Given the description of an element on the screen output the (x, y) to click on. 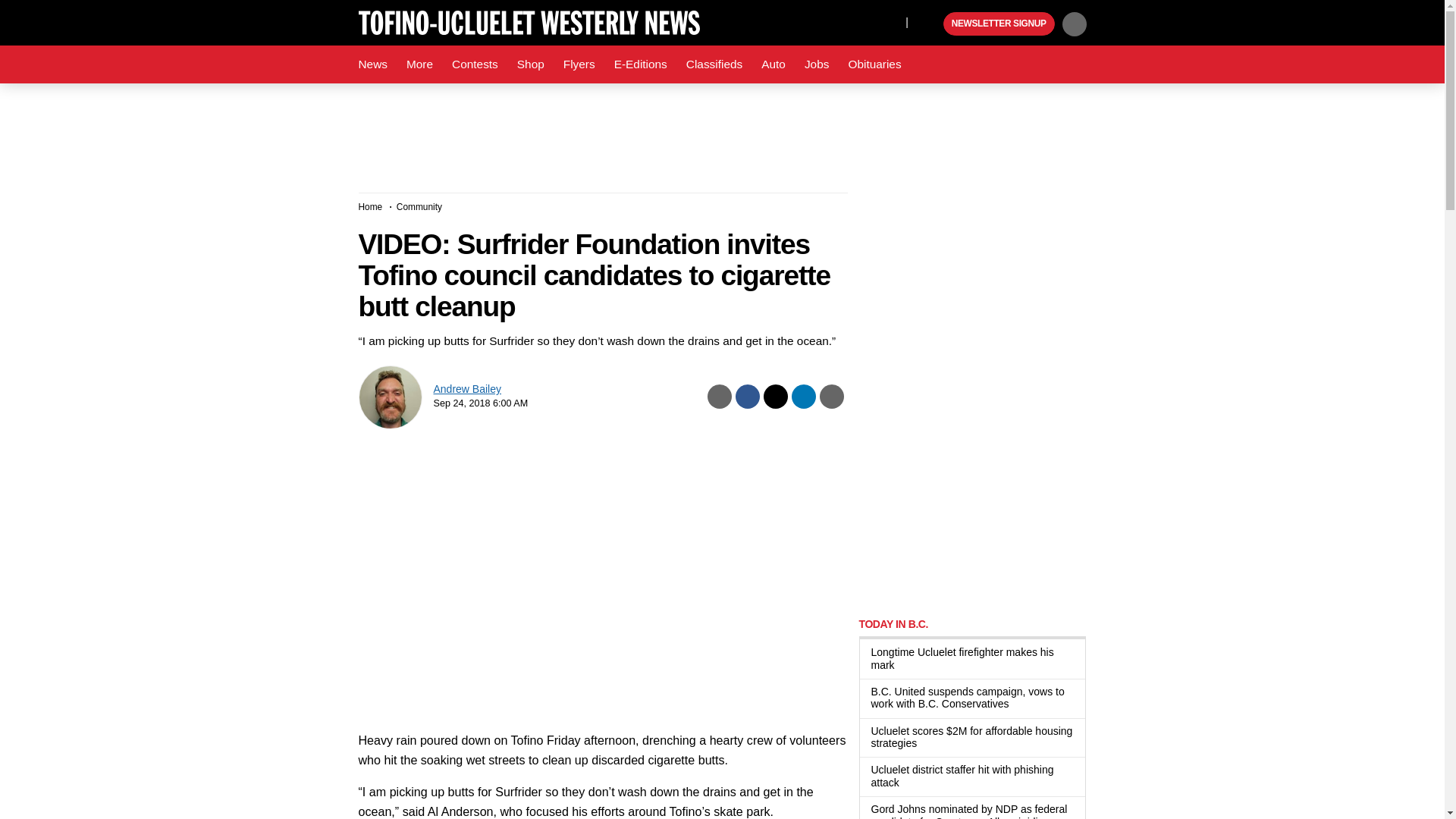
Play (929, 24)
Black Press Media (929, 24)
Has a gallery (1017, 705)
News (372, 64)
NEWSLETTER SIGNUP (998, 24)
X (889, 21)
